Given the description of an element on the screen output the (x, y) to click on. 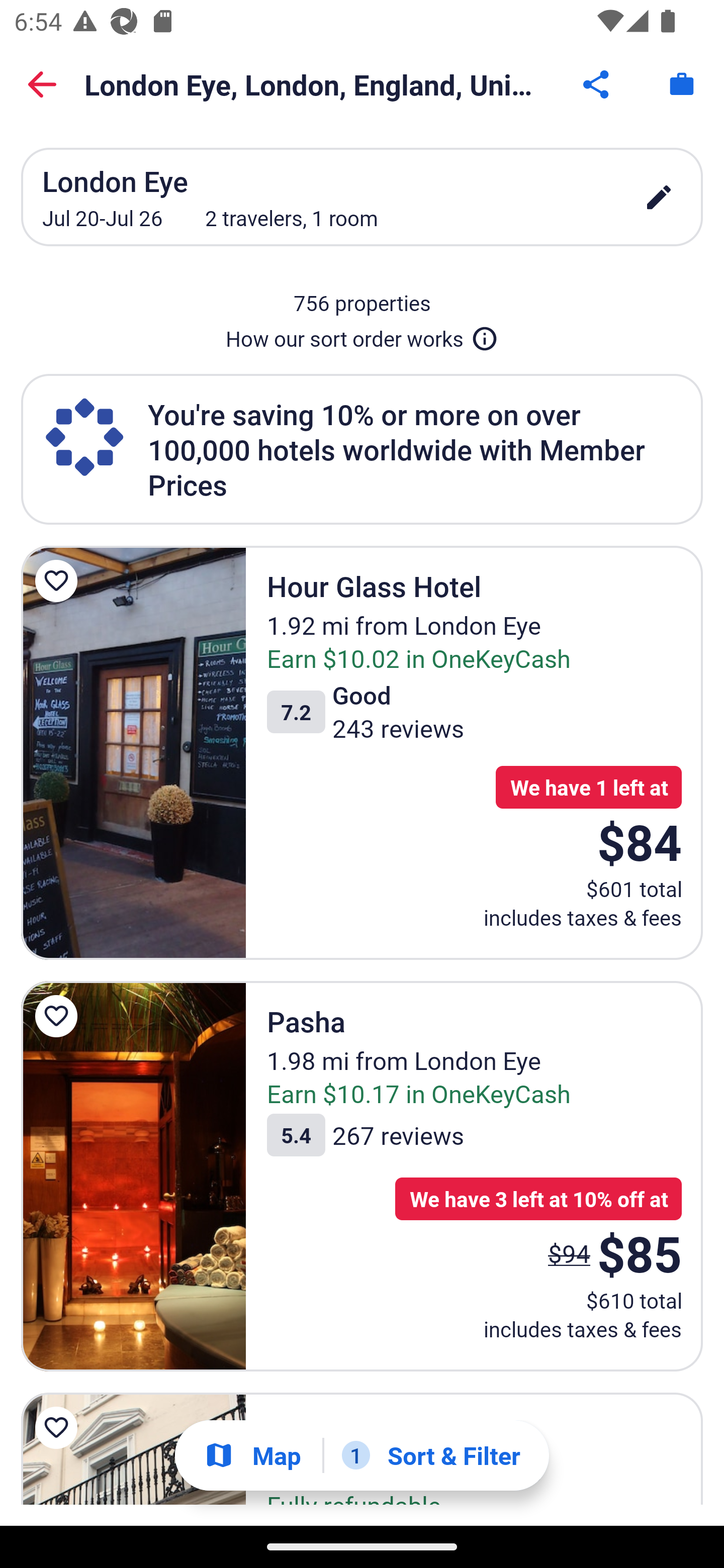
Back (42, 84)
Share Button (597, 84)
Trips. Button (681, 84)
London Eye Jul 20-Jul 26 2 travelers, 1 room edit (361, 196)
How our sort order works (361, 334)
Save Hour Glass Hotel to a trip (59, 580)
Hour Glass Hotel (133, 752)
Save Pasha to a trip (59, 1015)
Pasha (133, 1176)
$94 The price was $94 (569, 1252)
Save Stanley House to a trip (59, 1428)
1 Sort & Filter 1 Filter applied. Filters Button (430, 1455)
Show map Map Show map Button (252, 1455)
